Given the description of an element on the screen output the (x, y) to click on. 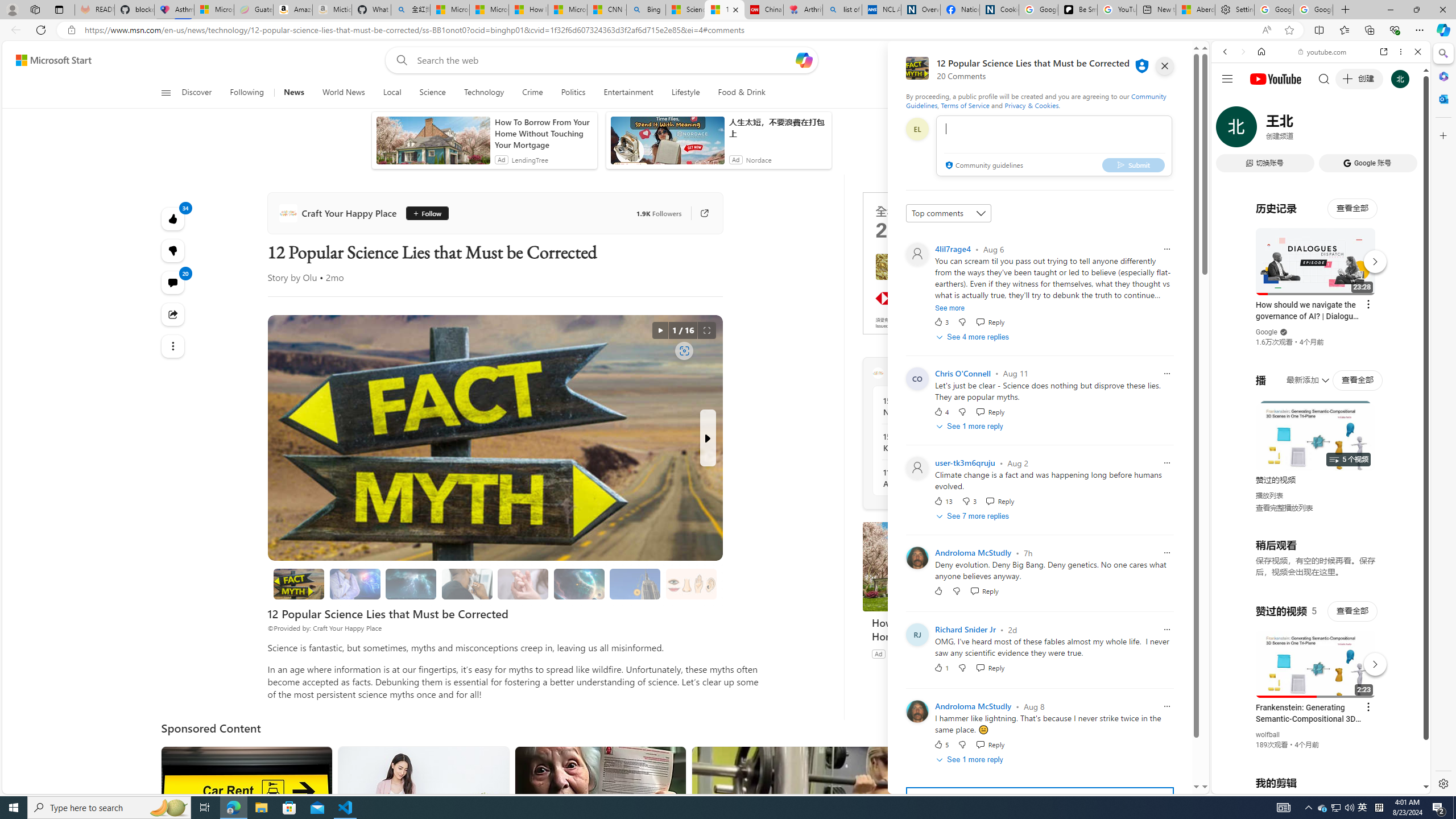
Search Filter, WEB (1230, 129)
Actions for this site (1371, 661)
4lil7rage4 (952, 248)
Click to scroll right (1407, 456)
Search videos from youtube.com (1299, 373)
US[ju] (1249, 785)
NCL Adult Asthma Inhaler Choice Guideline (881, 9)
13 Like (942, 500)
list of asthma inhalers uk - Search (842, 9)
See 1 more reply (971, 759)
Search Filter, VIDEOS (1300, 129)
